Given the description of an element on the screen output the (x, y) to click on. 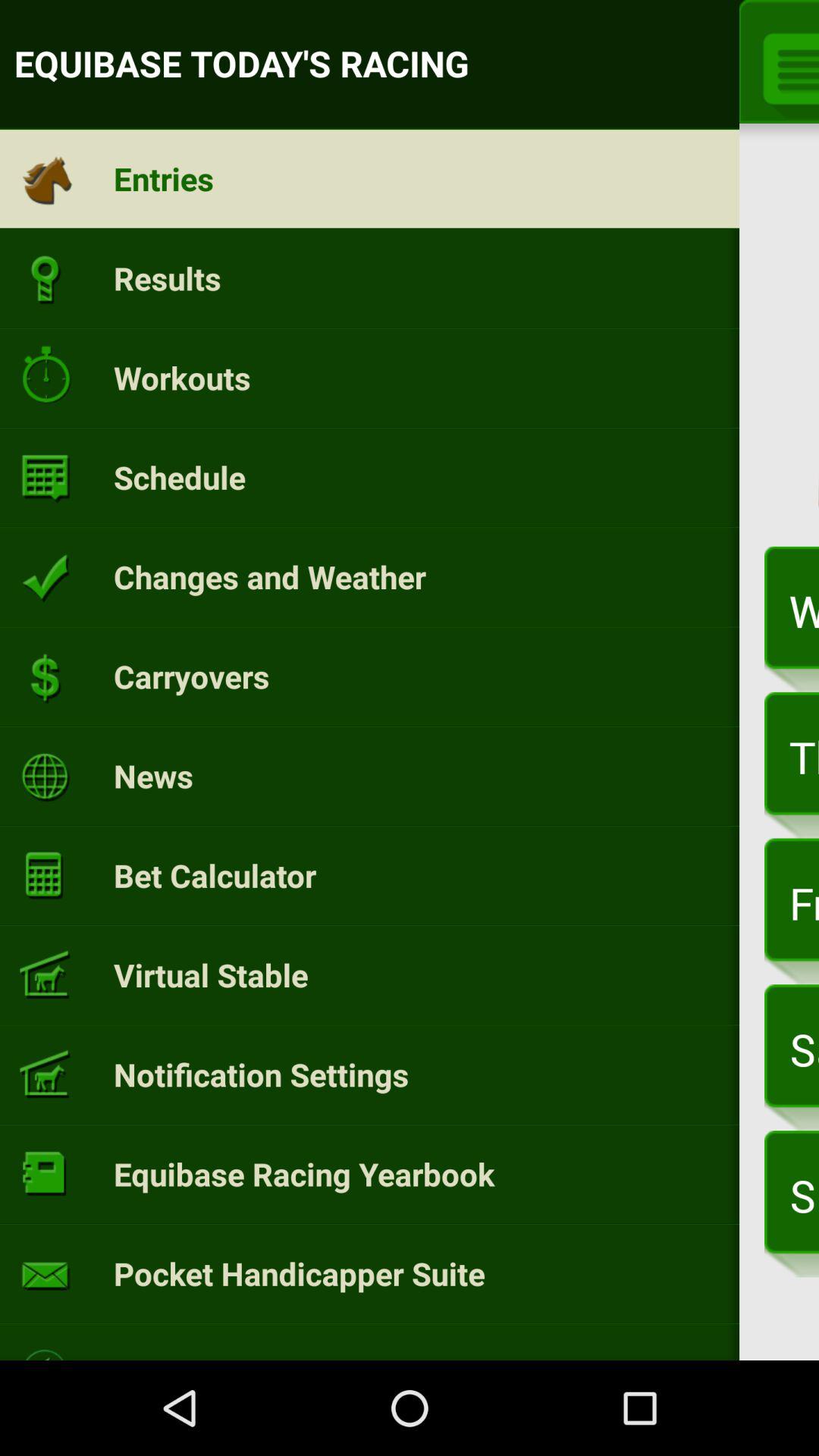
click results app (167, 277)
